Given the description of an element on the screen output the (x, y) to click on. 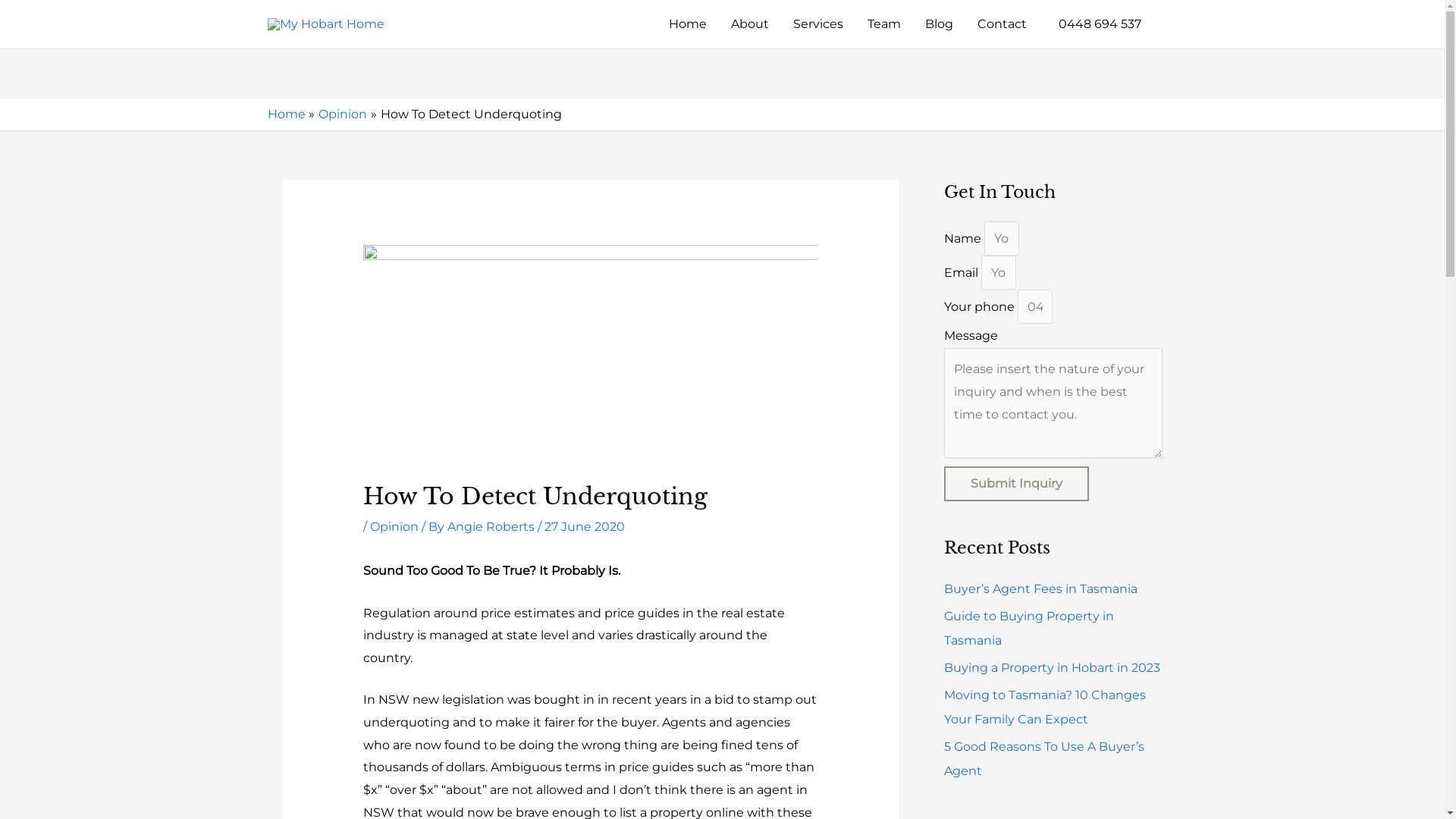
Buying a Property in Hobart in 2023 Element type: text (1051, 667)
Blog Element type: text (939, 24)
Opinion Element type: text (394, 526)
Home Element type: text (687, 24)
0448 694 537 Element type: text (1095, 24)
Team Element type: text (884, 24)
Angie Roberts Element type: text (492, 526)
Home Element type: text (285, 113)
Opinion Element type: text (342, 113)
Services Element type: text (818, 24)
Submit Inquiry Element type: text (1015, 483)
Moving to Tasmania? 10 Changes Your Family Can Expect Element type: text (1044, 706)
About Element type: text (749, 24)
Contact Element type: text (1001, 24)
Guide to Buying Property in Tasmania Element type: text (1028, 627)
